Given the description of an element on the screen output the (x, y) to click on. 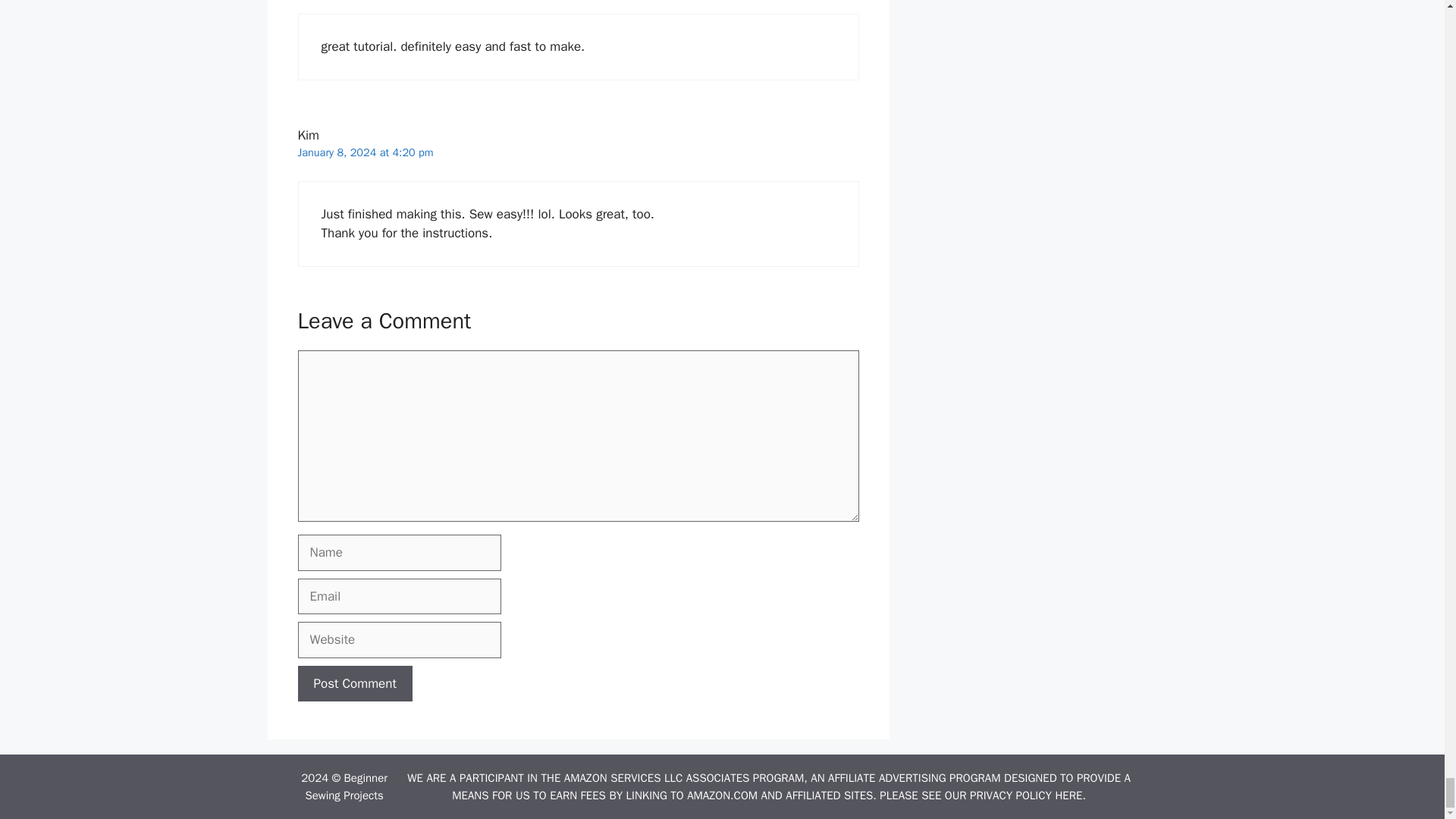
Post Comment (354, 683)
